Given the description of an element on the screen output the (x, y) to click on. 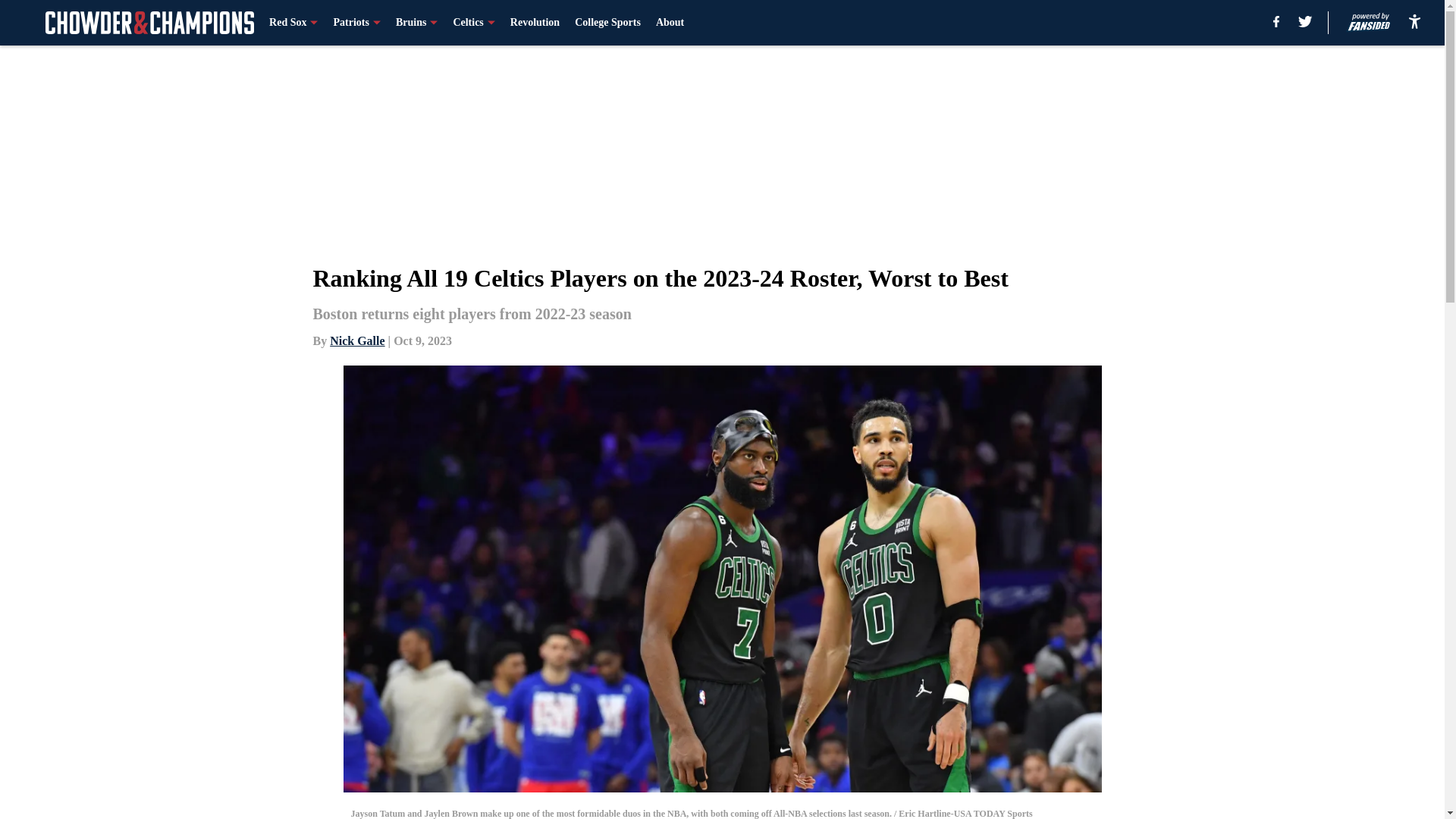
Nick Galle (357, 340)
Revolution (535, 22)
About (670, 22)
College Sports (607, 22)
